Given the description of an element on the screen output the (x, y) to click on. 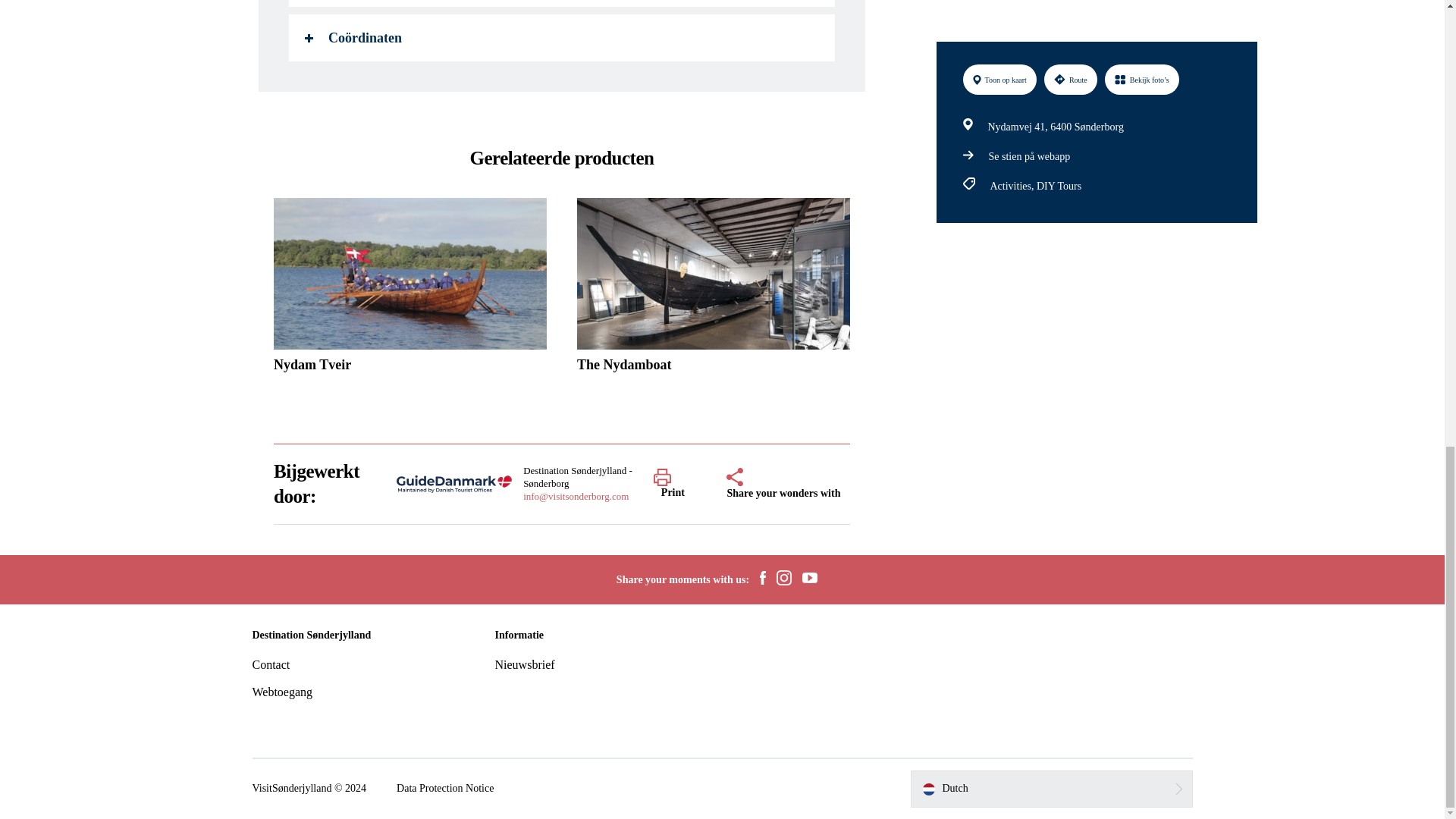
Data Protection Notice (444, 788)
Contact (270, 664)
Nieuwsbrief (524, 664)
Data Protection Notice (444, 788)
Download (561, 3)
Webtoegang (282, 691)
The Nydamboat (713, 290)
Contact (270, 664)
instagram (783, 579)
Webtoegang (282, 691)
Nieuwsbrief (524, 664)
Nydam Tveir (410, 290)
facebook (762, 579)
youtube (809, 579)
